Given the description of an element on the screen output the (x, y) to click on. 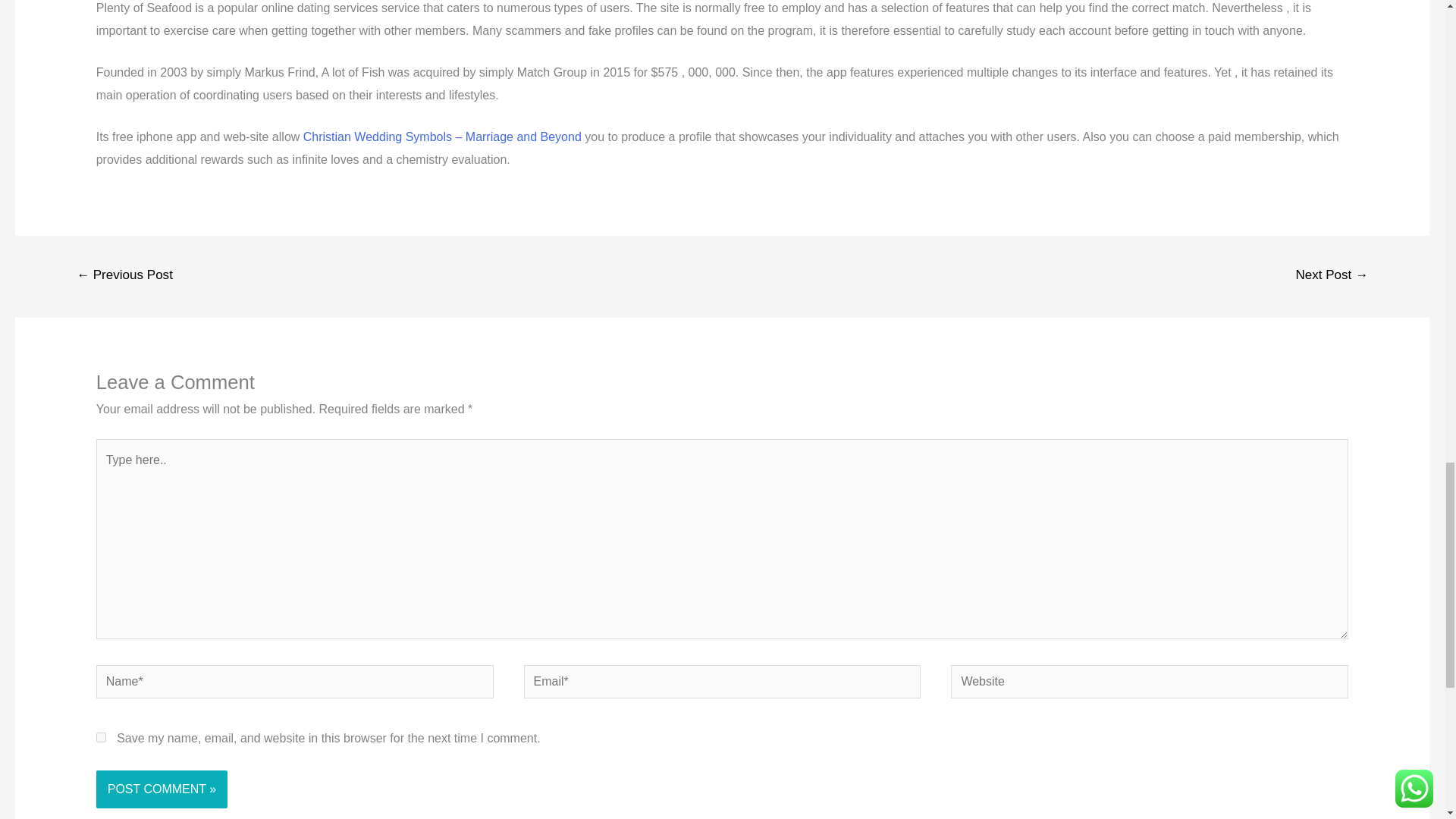
yes (101, 737)
